Given the description of an element on the screen output the (x, y) to click on. 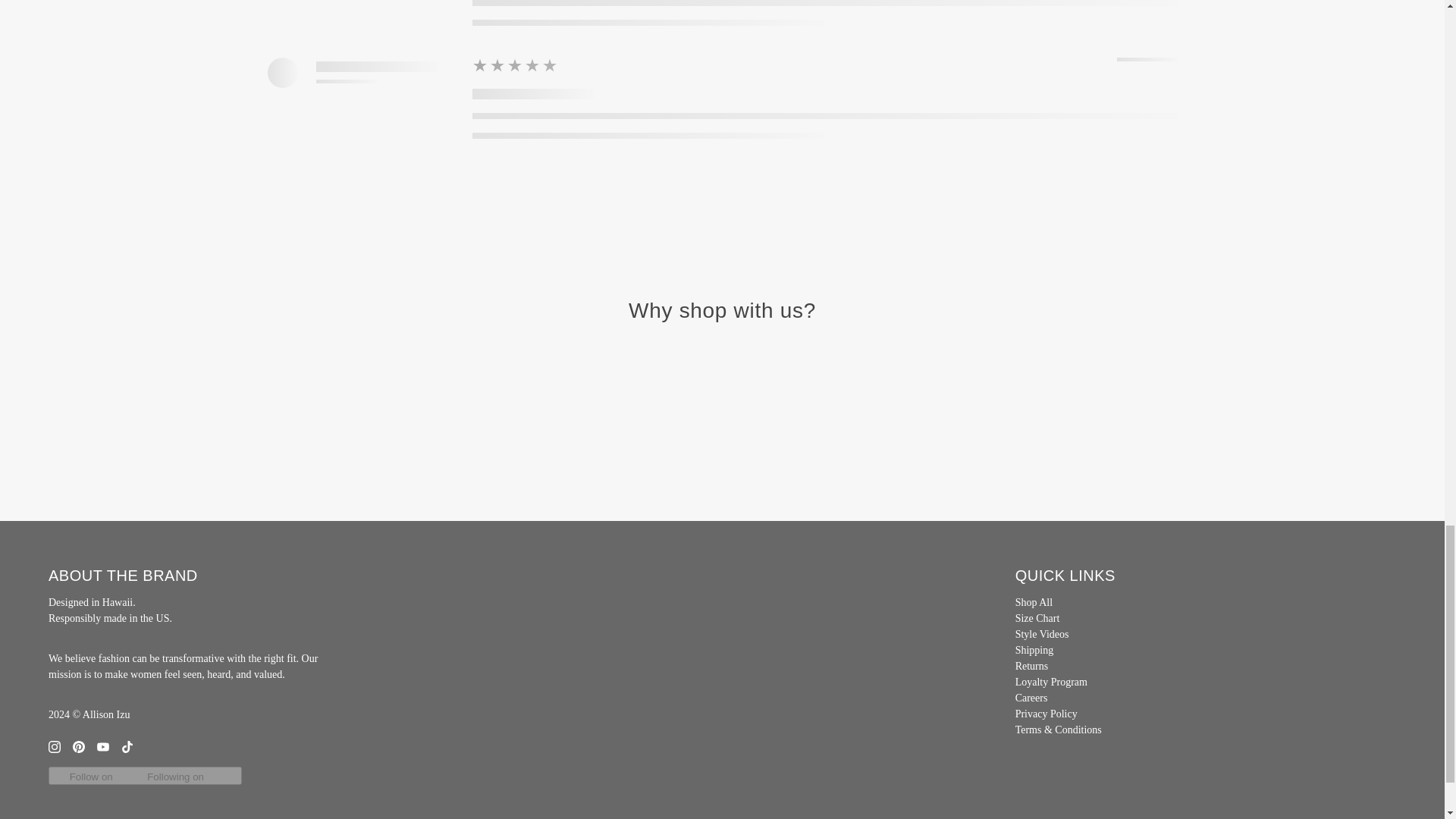
Shipping (1034, 650)
Returns (1031, 665)
Loyalty Program (1050, 681)
Style Videos (1041, 633)
Shop All (1033, 602)
Size Chart (1036, 618)
Privacy Policy (1045, 713)
Careers (1031, 697)
